Given the description of an element on the screen output the (x, y) to click on. 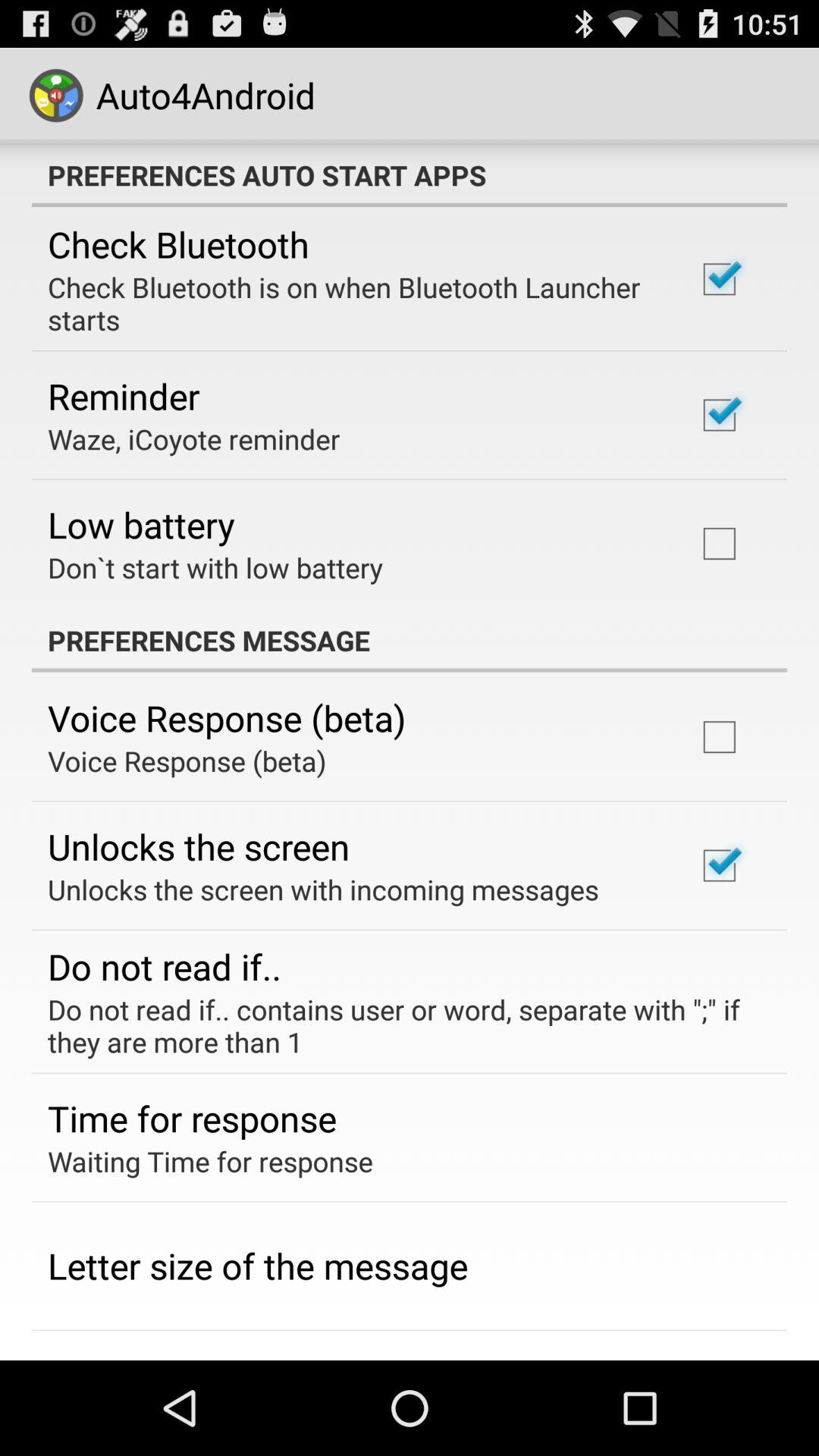
launch the preferences auto start app (409, 175)
